Given the description of an element on the screen output the (x, y) to click on. 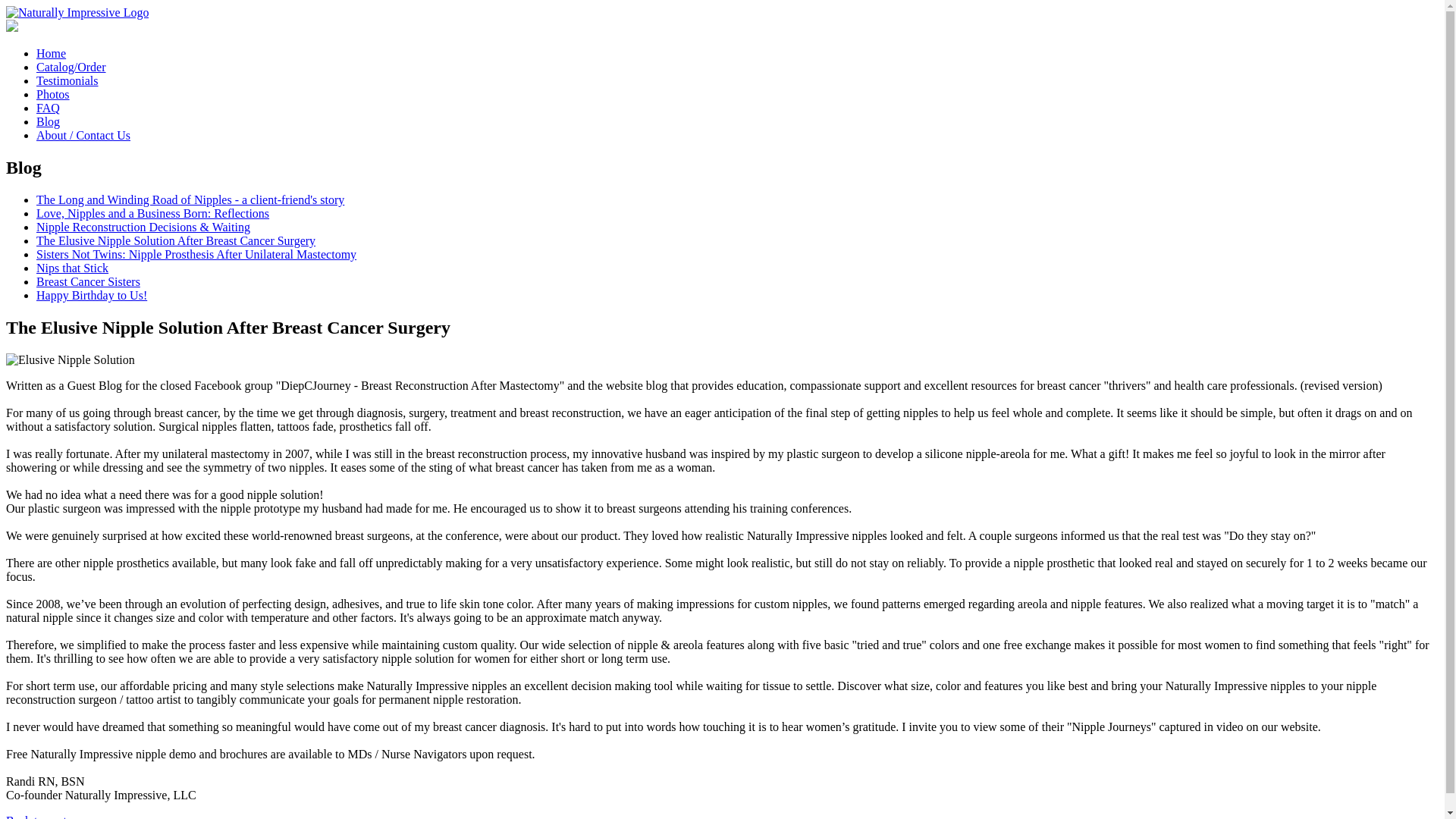
Testimonials (67, 80)
Happy Birthday to Us! (91, 295)
Blog (47, 121)
Home (50, 52)
Photos (52, 93)
Nips that Stick (71, 267)
Love, Nipples and a Business Born: Reflections (152, 213)
FAQ (47, 107)
Breast Cancer Sisters (87, 281)
The Elusive Nipple Solution After Breast Cancer Surgery (175, 240)
